Given the description of an element on the screen output the (x, y) to click on. 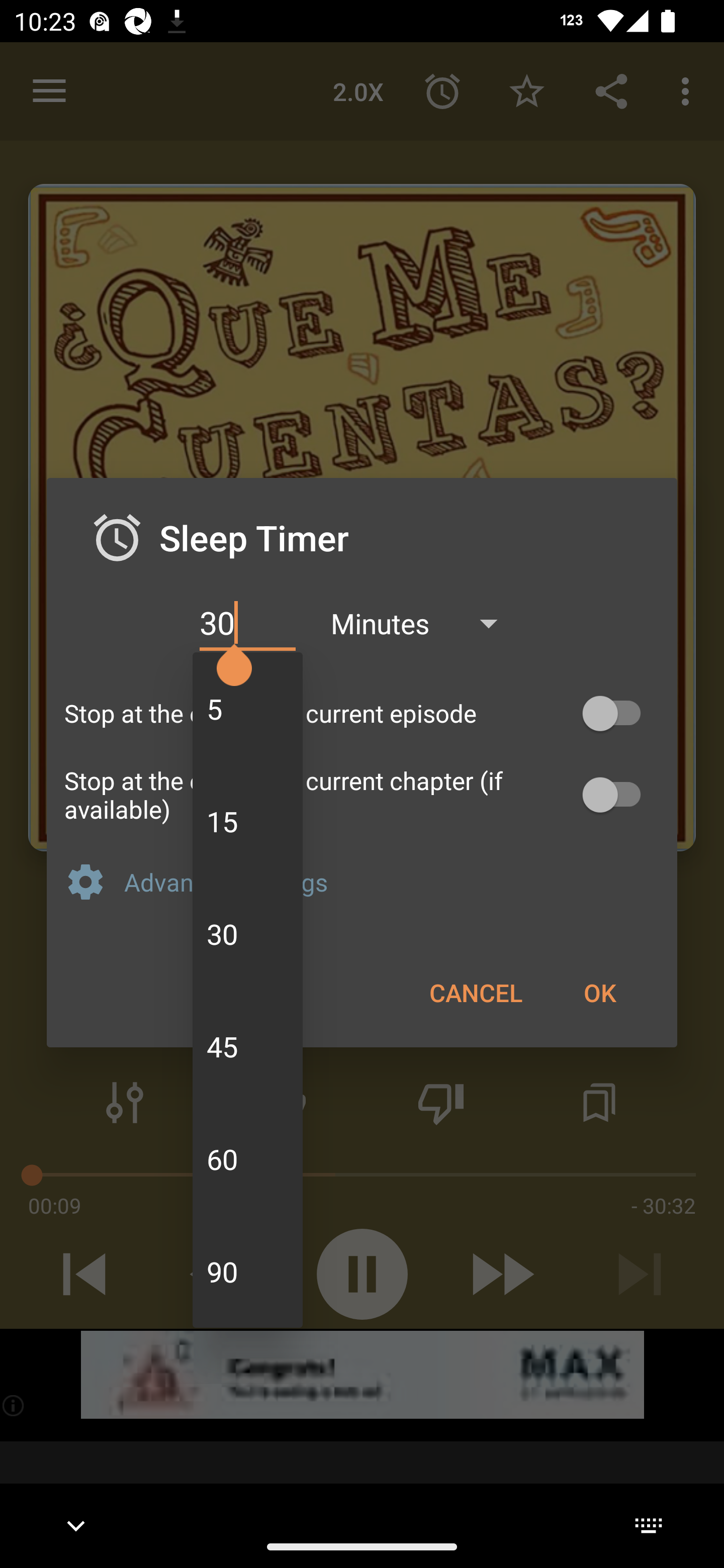
30 (247, 623)
Minutes (423, 623)
Stop at the end of the current episode (361, 712)
Advanced settings (391, 881)
CANCEL (475, 992)
OK (599, 992)
